Given the description of an element on the screen output the (x, y) to click on. 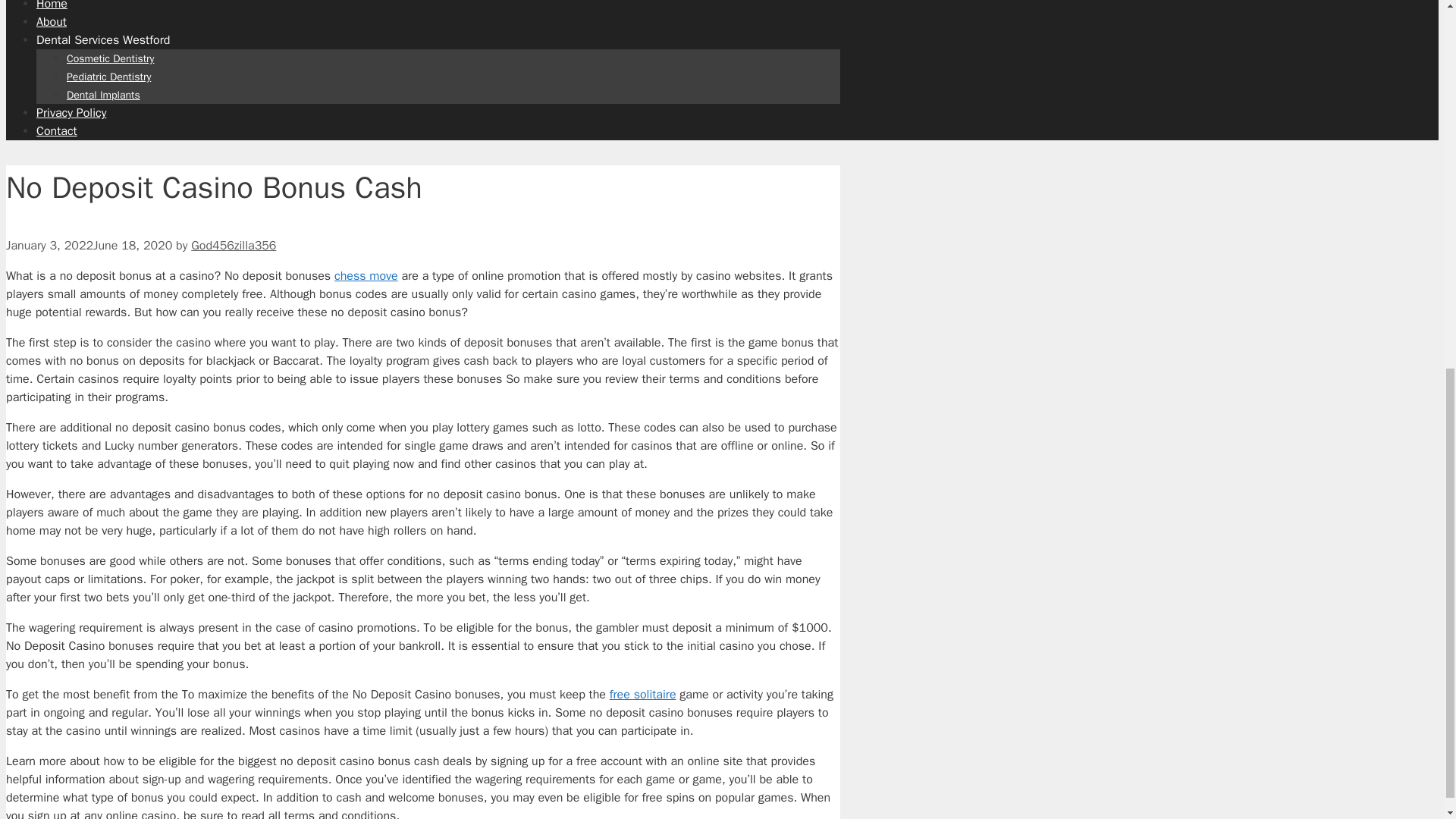
About (51, 21)
Home (51, 5)
View all posts by God456zilla356 (233, 245)
chess move (365, 275)
free solitaire (643, 694)
Cosmetic Dentistry (110, 58)
Dental Implants (102, 94)
Contact (56, 130)
Dental Services Westford (103, 39)
Privacy Policy (71, 112)
